Given the description of an element on the screen output the (x, y) to click on. 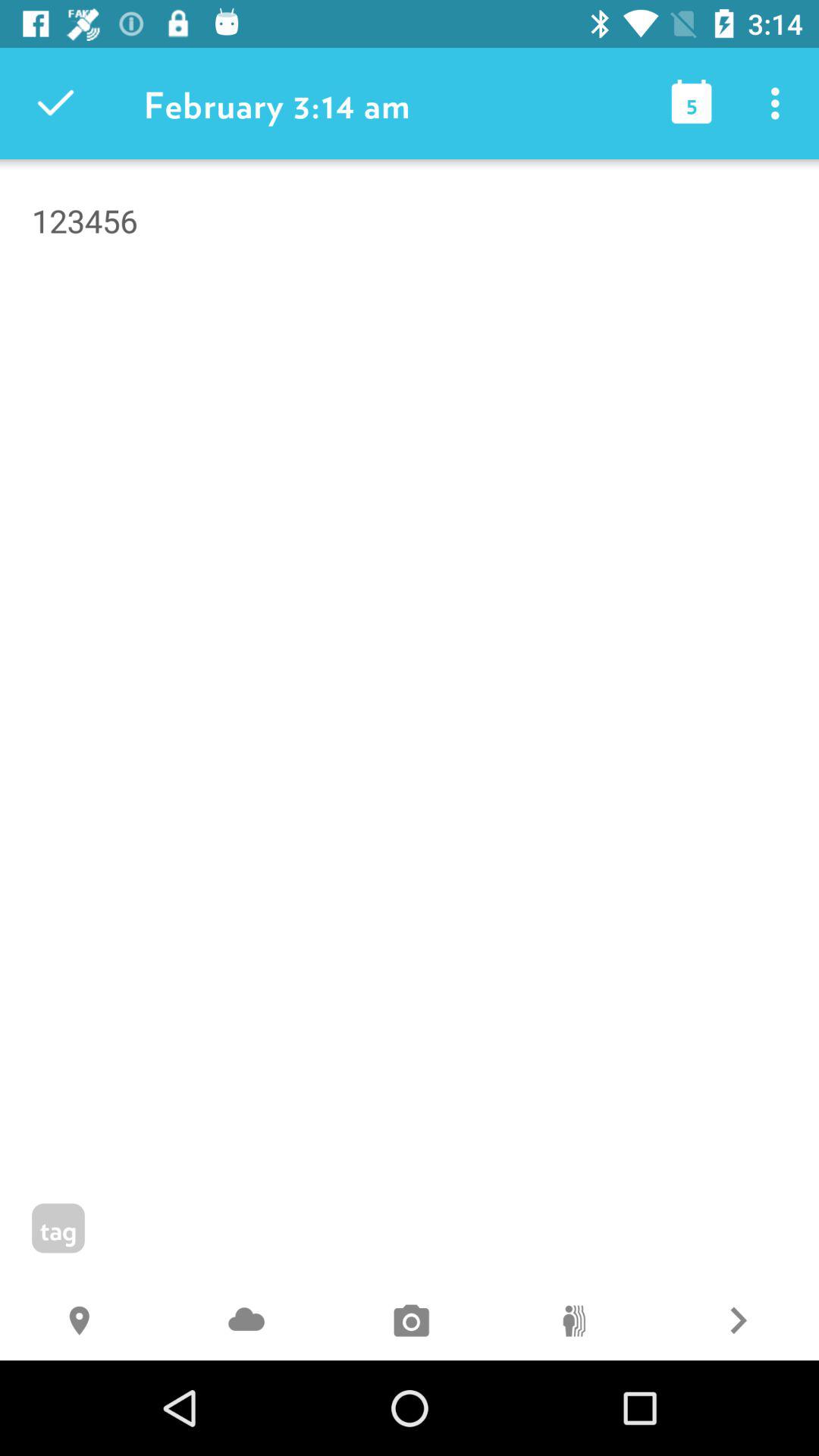
choose the item next to l icon (245, 1322)
